Given the description of an element on the screen output the (x, y) to click on. 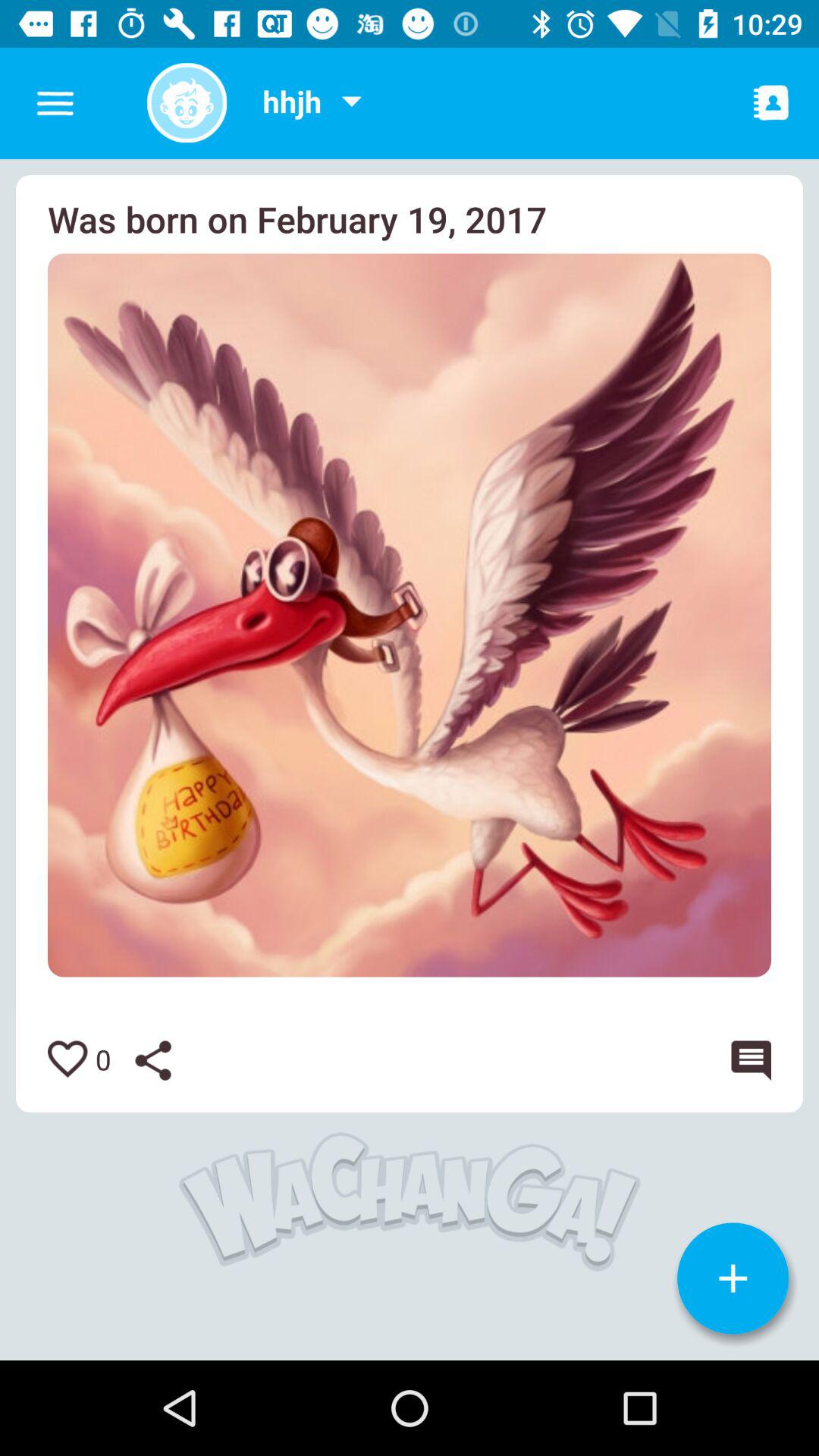
profile (186, 102)
